Given the description of an element on the screen output the (x, y) to click on. 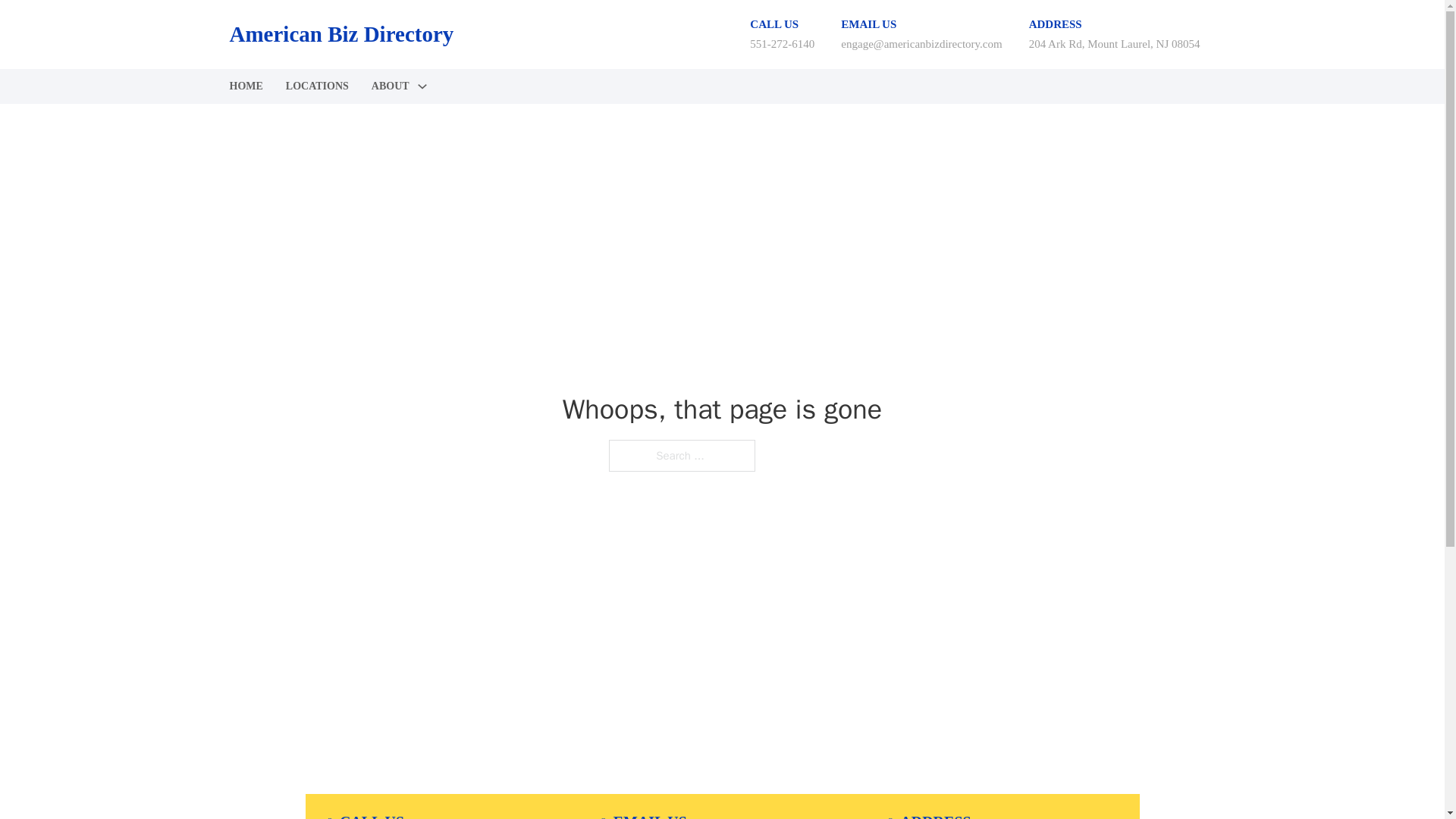
LOCATIONS (317, 85)
American Biz Directory (340, 34)
HOME (245, 85)
551-272-6140 (781, 43)
